Given the description of an element on the screen output the (x, y) to click on. 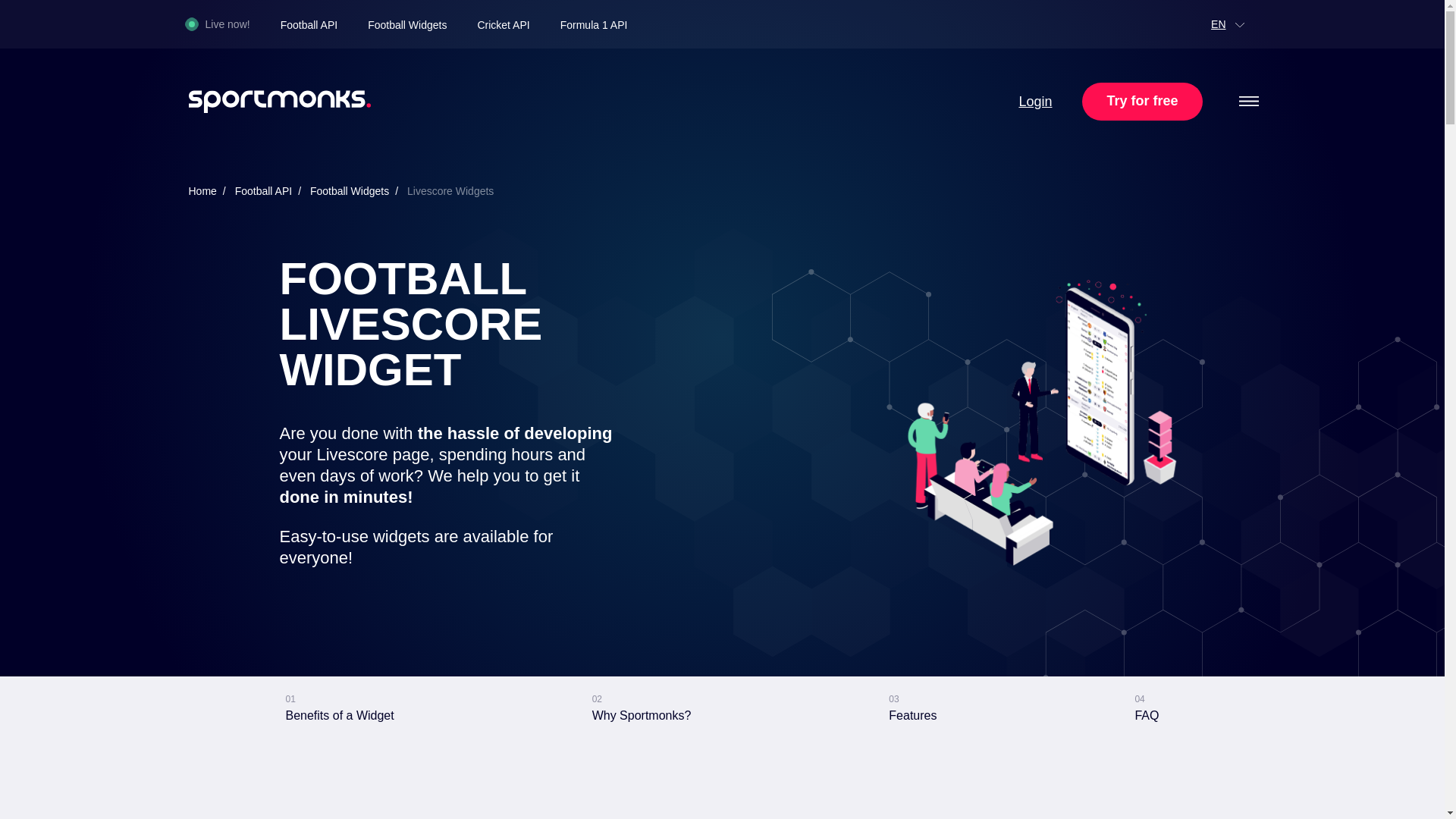
Football API (309, 24)
Cricket API (503, 24)
Football Widgets (339, 707)
Formula 1 API (407, 24)
EN (593, 24)
